Given the description of an element on the screen output the (x, y) to click on. 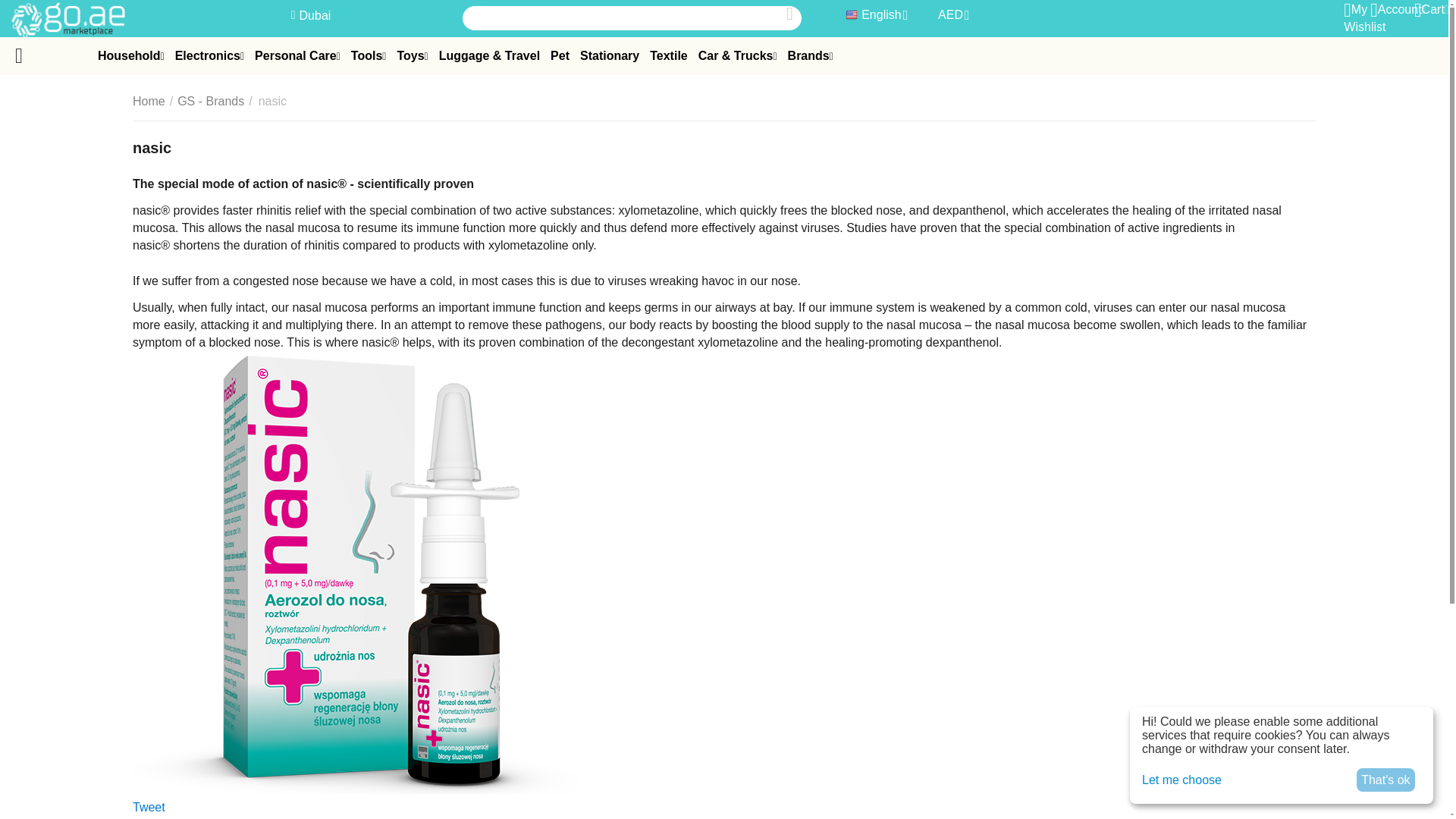
View wish list (1364, 17)
English (875, 15)
Account (1397, 9)
What are you looking? (632, 17)
AED (952, 15)
Dubai (311, 15)
My Wishlist (1364, 17)
